Given the description of an element on the screen output the (x, y) to click on. 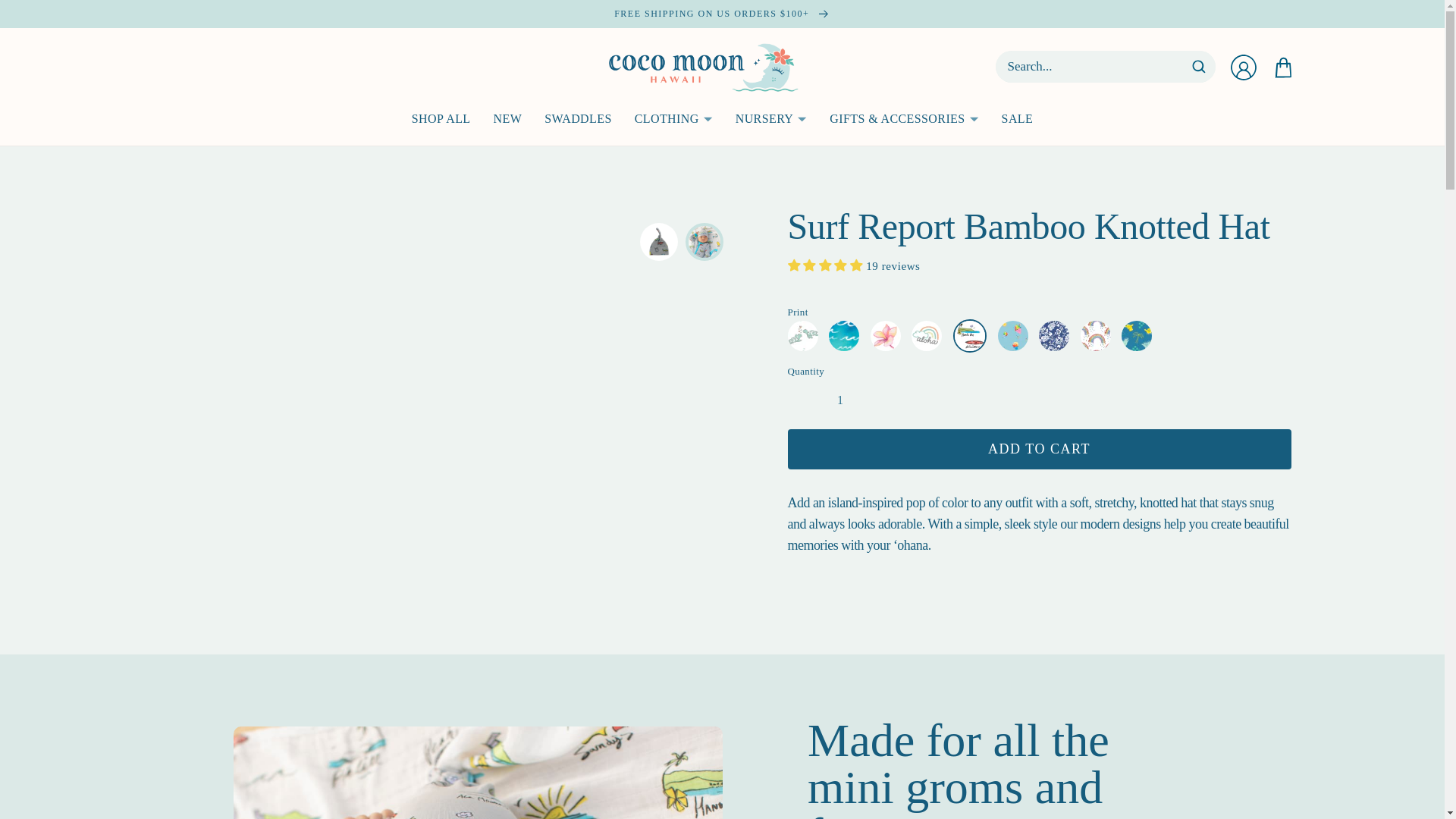
1 (840, 400)
Skip to content (45, 16)
